Given the description of an element on the screen output the (x, y) to click on. 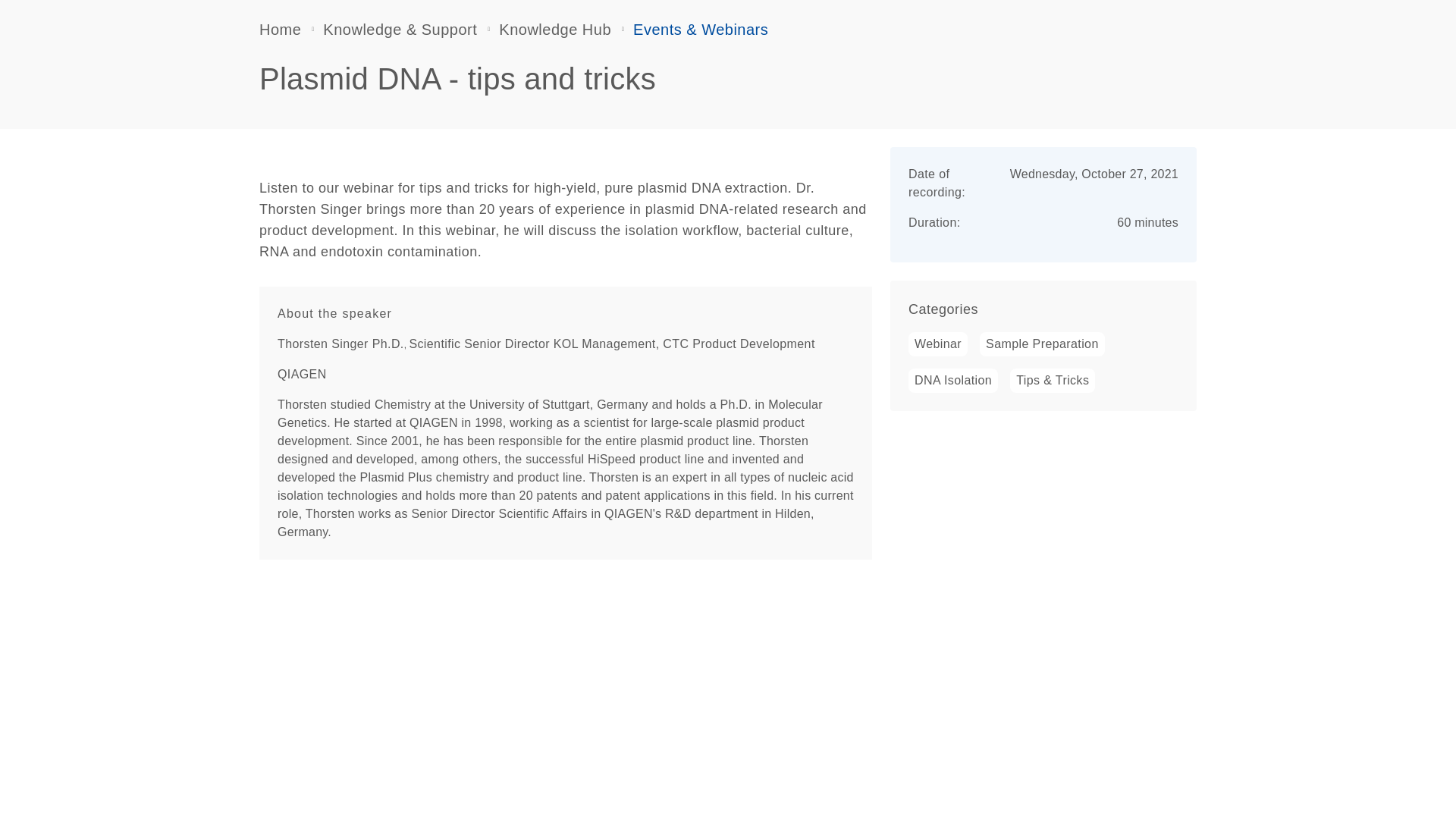
Home (280, 29)
Events and Webinars (700, 29)
Home (280, 29)
Knowledge and Support (400, 29)
Knowledge Hub (555, 29)
Knowledge Hub (555, 29)
